Given the description of an element on the screen output the (x, y) to click on. 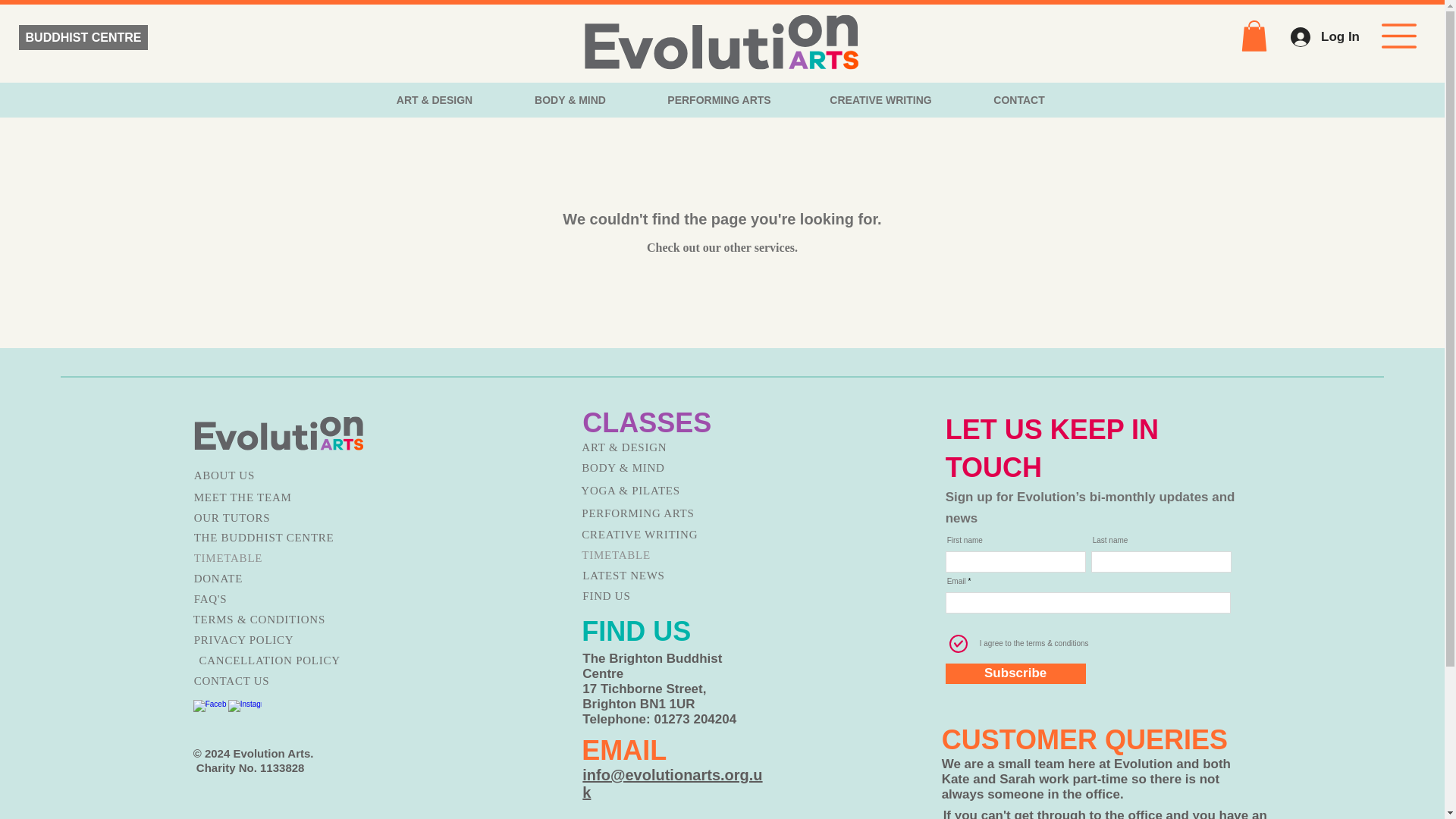
FAQ'S (271, 598)
CONTACT US (271, 680)
TIMETABLE (271, 557)
CONTACT (1018, 100)
OUR TUTORS (271, 517)
BUDDHIST CENTRE (83, 37)
CREATIVE WRITING (659, 534)
DONATE (271, 578)
MEET THE TEAM (271, 497)
FIND US (660, 596)
CANCELLATION POLICY (276, 660)
PERFORMING ARTS (719, 100)
PRIVACY POLICY (271, 639)
Subscribe (1015, 673)
THE BUDDHIST CENTRE (271, 537)
